Given the description of an element on the screen output the (x, y) to click on. 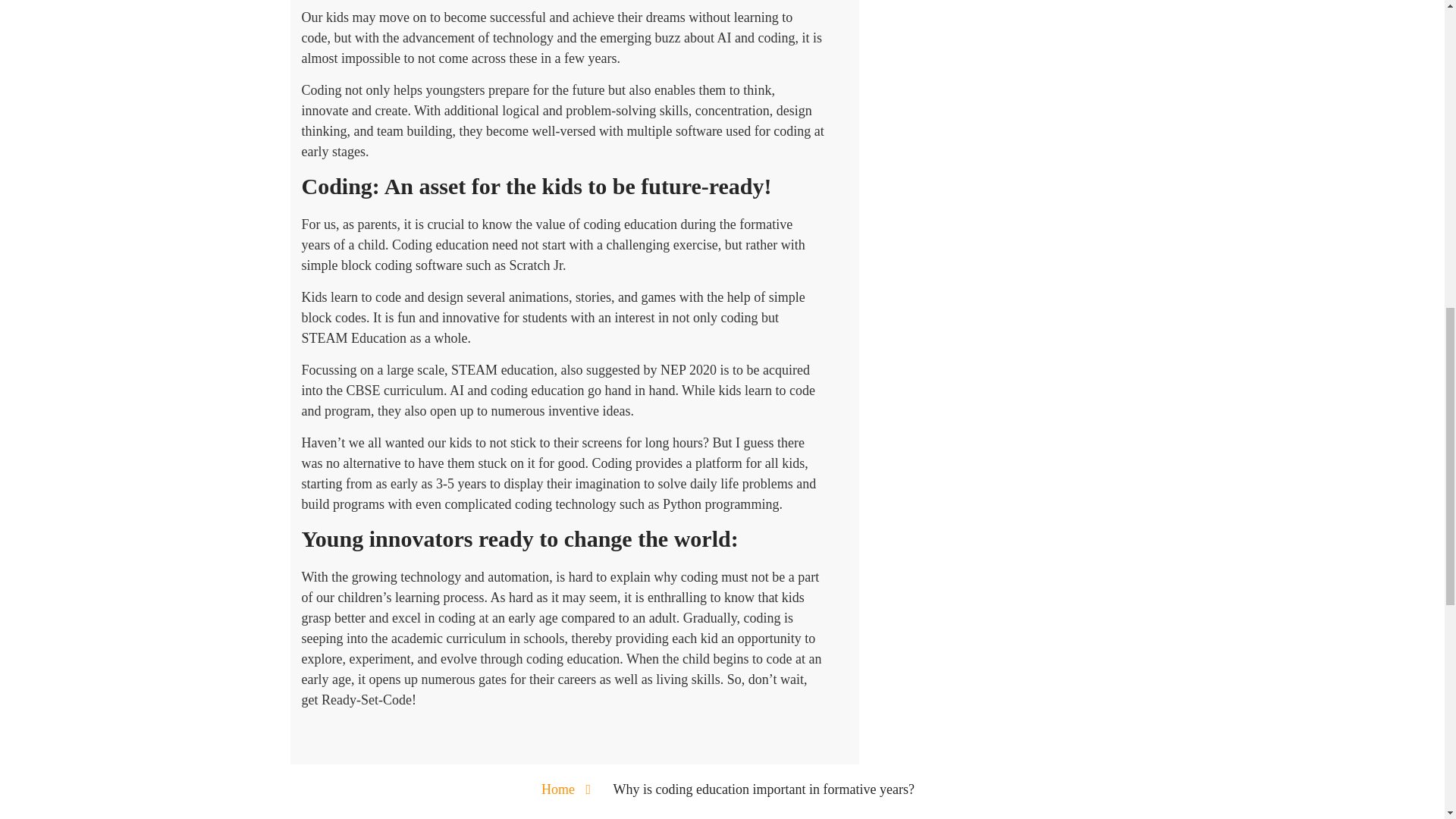
Home (558, 789)
Home (558, 789)
